Given the description of an element on the screen output the (x, y) to click on. 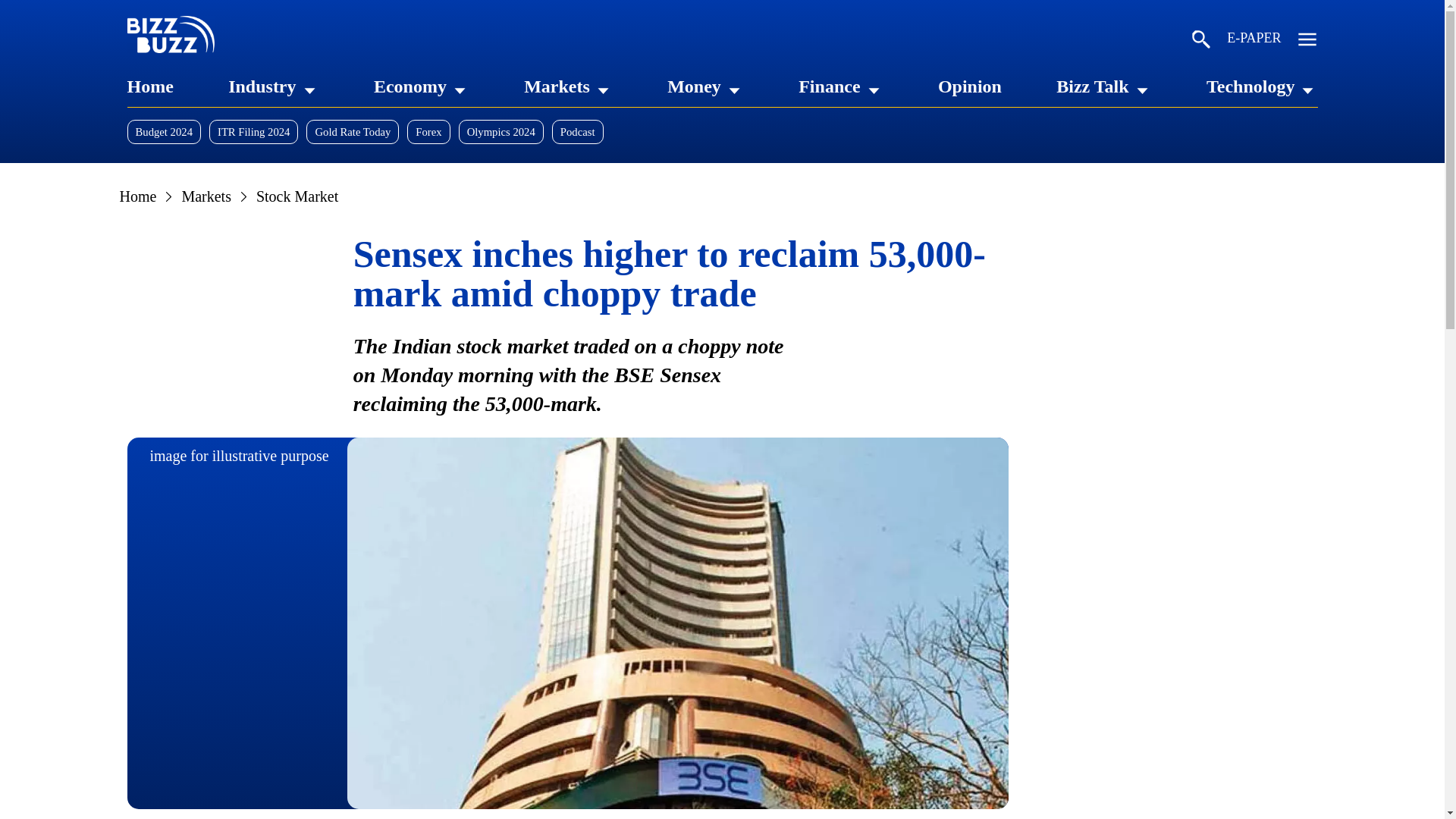
Economy (410, 86)
Industry (261, 86)
Markets (556, 86)
Home (150, 86)
E-PAPER (1254, 41)
Money (693, 86)
